Given the description of an element on the screen output the (x, y) to click on. 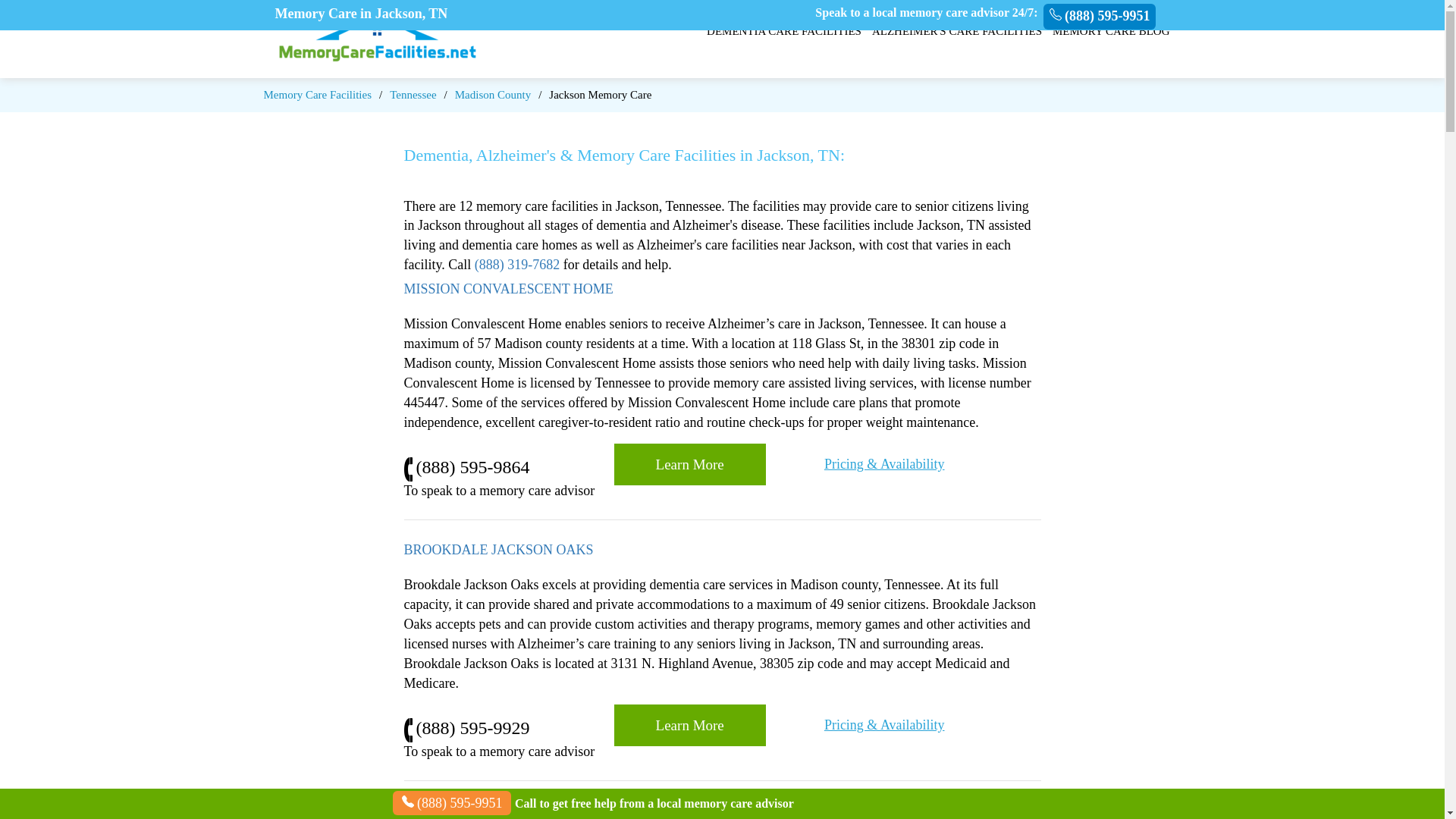
ALZHEIMER'S CARE FACILITIES (957, 31)
MEMORY CARE BLOG (1110, 31)
Madison County (492, 94)
Memory Care Facilities (317, 94)
DEMENTIA CARE FACILITIES (783, 31)
Memory Care in Madison County (492, 94)
Memory Care Facilities (317, 94)
Tennessee (412, 94)
Learn More (689, 725)
Learn More (689, 464)
Memory Care in Tennessee (412, 94)
Learn More (689, 464)
Learn More (689, 725)
